Given the description of an element on the screen output the (x, y) to click on. 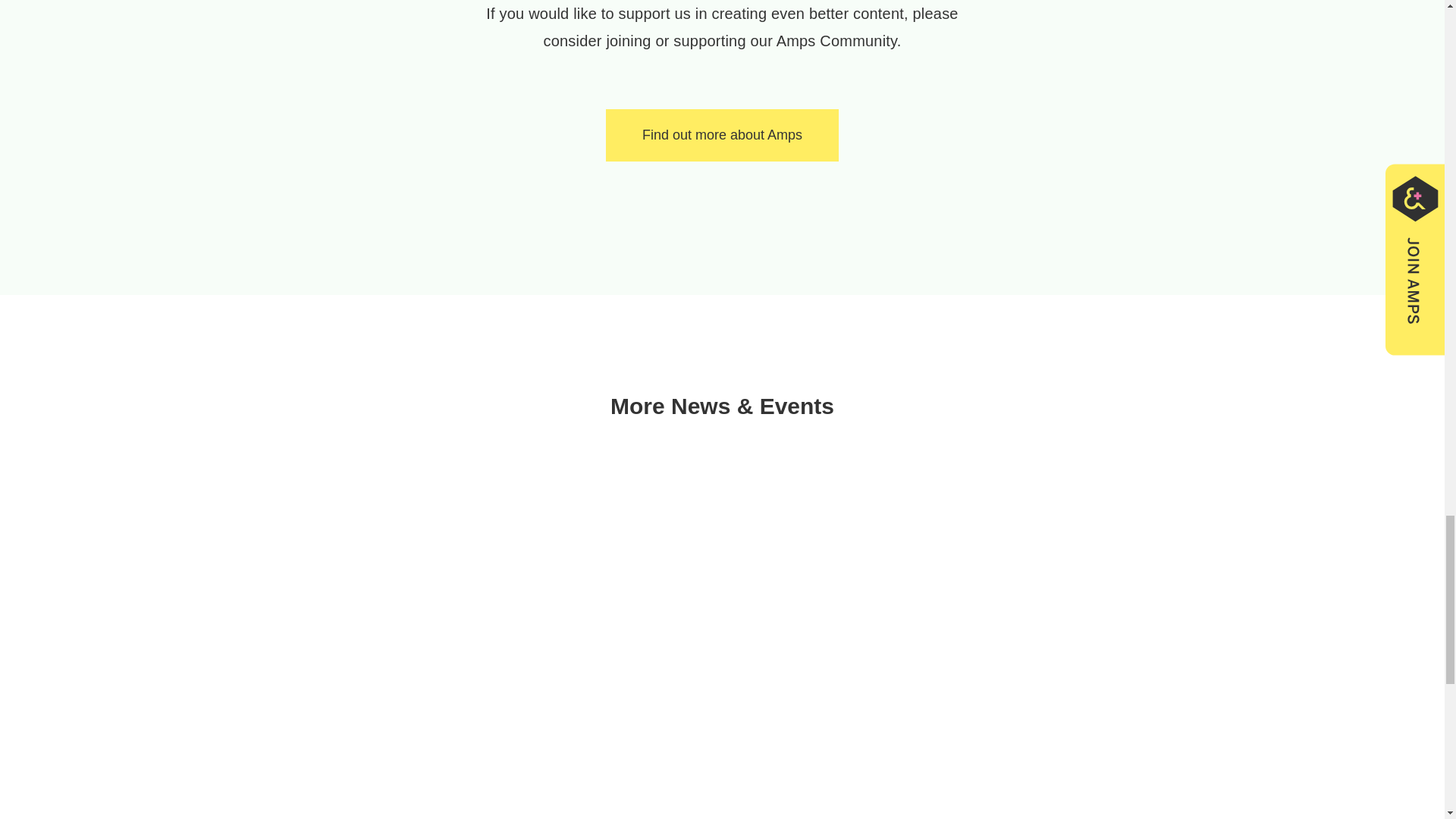
Find out more about Amps (721, 134)
